Given the description of an element on the screen output the (x, y) to click on. 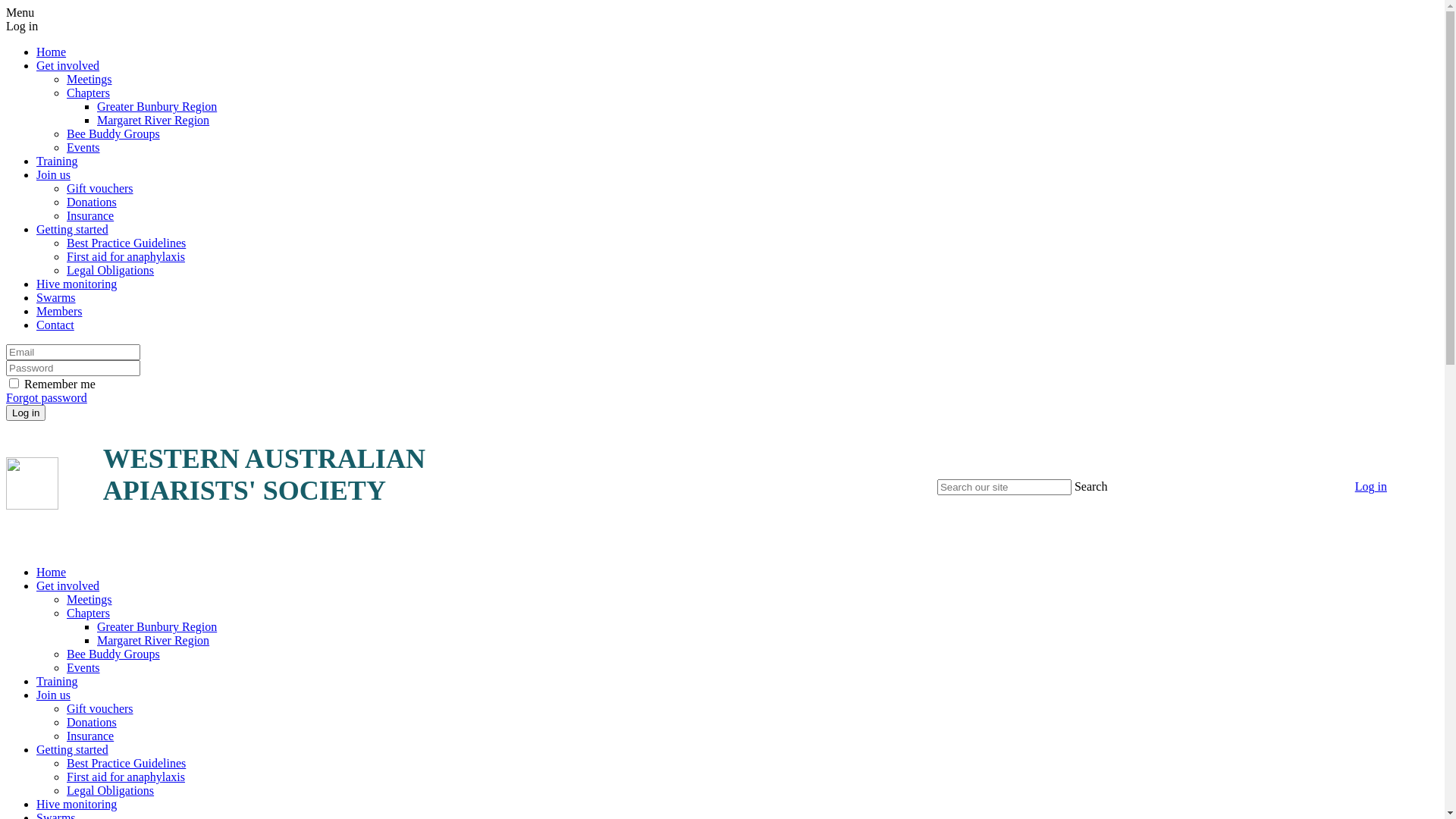
Donations Element type: text (91, 721)
Best Practice Guidelines Element type: text (125, 242)
Margaret River Region Element type: text (153, 639)
Get involved Element type: text (67, 65)
Events Element type: text (83, 667)
Chapters Element type: text (87, 92)
Hive monitoring Element type: text (76, 283)
Events Element type: text (83, 147)
Join us Element type: text (53, 174)
Get involved Element type: text (67, 585)
Greater Bunbury Region Element type: text (156, 106)
Bee Buddy Groups Element type: text (113, 133)
Log in Element type: text (1370, 486)
Join us Element type: text (53, 694)
Chapters Element type: text (87, 612)
Search Element type: text (1090, 486)
Legal Obligations Element type: text (109, 269)
Bee Buddy Groups Element type: text (113, 653)
Gift vouchers Element type: text (99, 708)
Greater Bunbury Region Element type: text (156, 626)
Log in Element type: text (25, 412)
Forgot password Element type: text (46, 397)
Meetings Element type: text (89, 78)
Margaret River Region Element type: text (153, 119)
Home Element type: text (50, 571)
Training Element type: text (57, 160)
Training Element type: text (57, 680)
Donations Element type: text (91, 201)
Insurance Element type: text (89, 215)
Gift vouchers Element type: text (99, 188)
First aid for anaphylaxis Element type: text (125, 256)
Meetings Element type: text (89, 599)
Hive monitoring Element type: text (76, 803)
Getting started Element type: text (72, 228)
Getting started Element type: text (72, 749)
Swarms Element type: text (55, 297)
Members Element type: text (58, 310)
Contact Element type: text (55, 324)
First aid for anaphylaxis Element type: text (125, 776)
Insurance Element type: text (89, 735)
Home Element type: text (50, 51)
Best Practice Guidelines Element type: text (125, 762)
Legal Obligations Element type: text (109, 790)
